Given the description of an element on the screen output the (x, y) to click on. 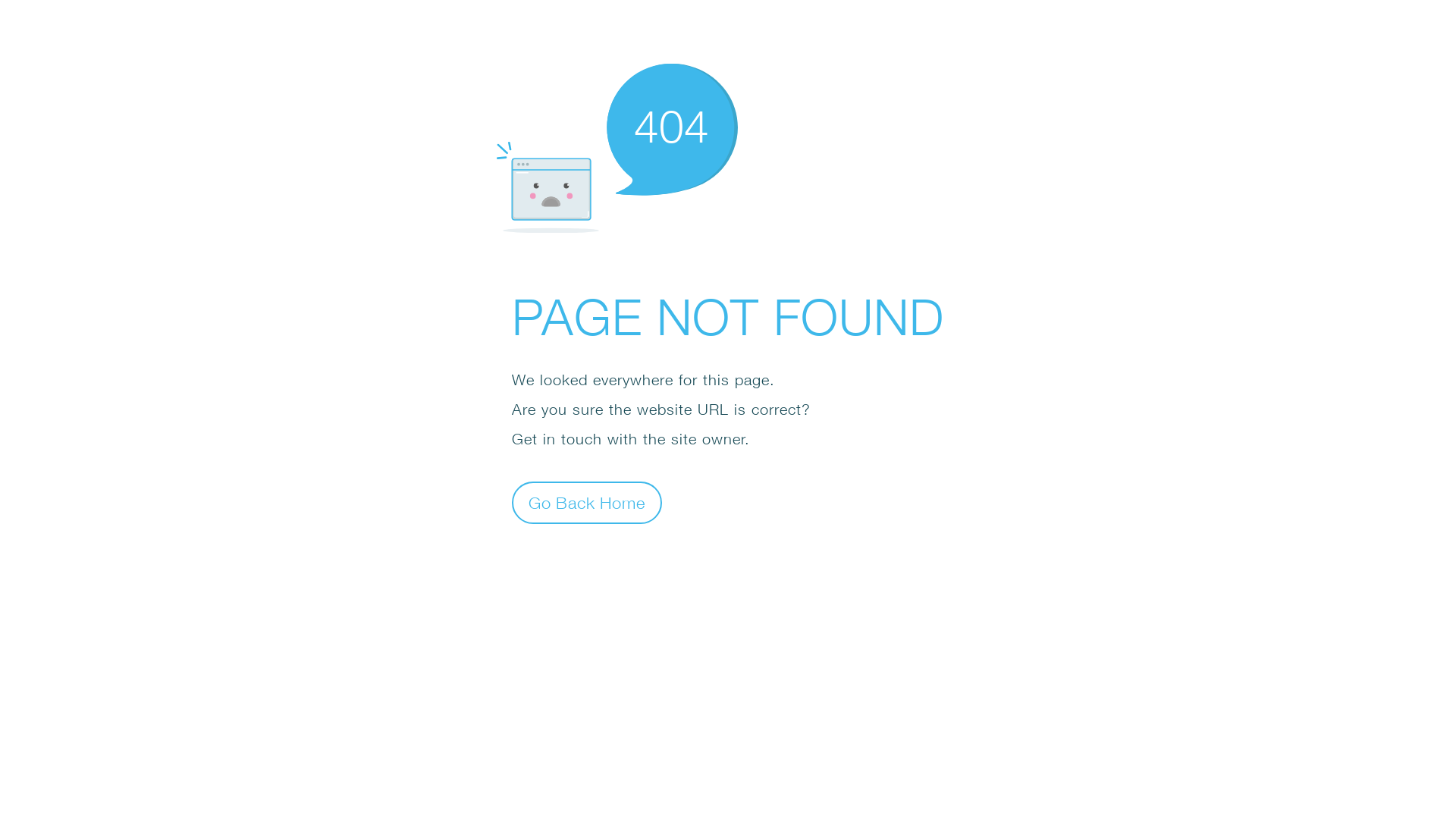
Go Back Home Element type: text (586, 502)
